Given the description of an element on the screen output the (x, y) to click on. 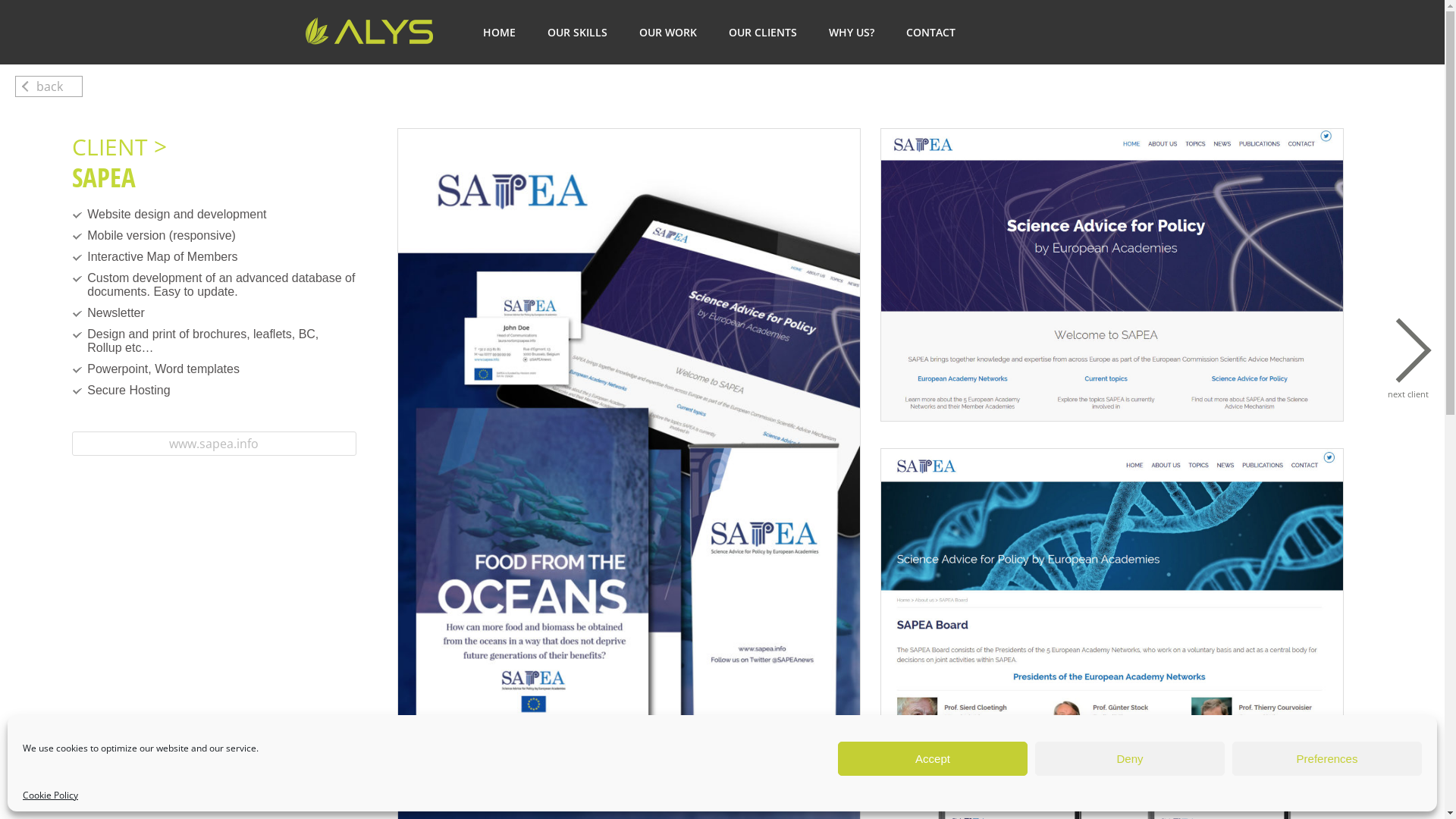
OUR SKILLS Element type: text (577, 32)
OUR WORK Element type: text (667, 32)
Deny Element type: text (1129, 758)
Accept Element type: text (932, 758)
OUR CLIENTS Element type: text (761, 32)
www.sapea.info Element type: text (213, 443)
SAPEA Element type: hover (1111, 274)
HOME Element type: text (498, 32)
next client Element type: text (1417, 365)
Cookie Policy Element type: text (50, 795)
CONTACT Element type: text (929, 32)
back Element type: text (48, 86)
Preferences Element type: text (1326, 758)
WHY US? Element type: text (850, 32)
SAPEA Element type: hover (1111, 594)
